Given the description of an element on the screen output the (x, y) to click on. 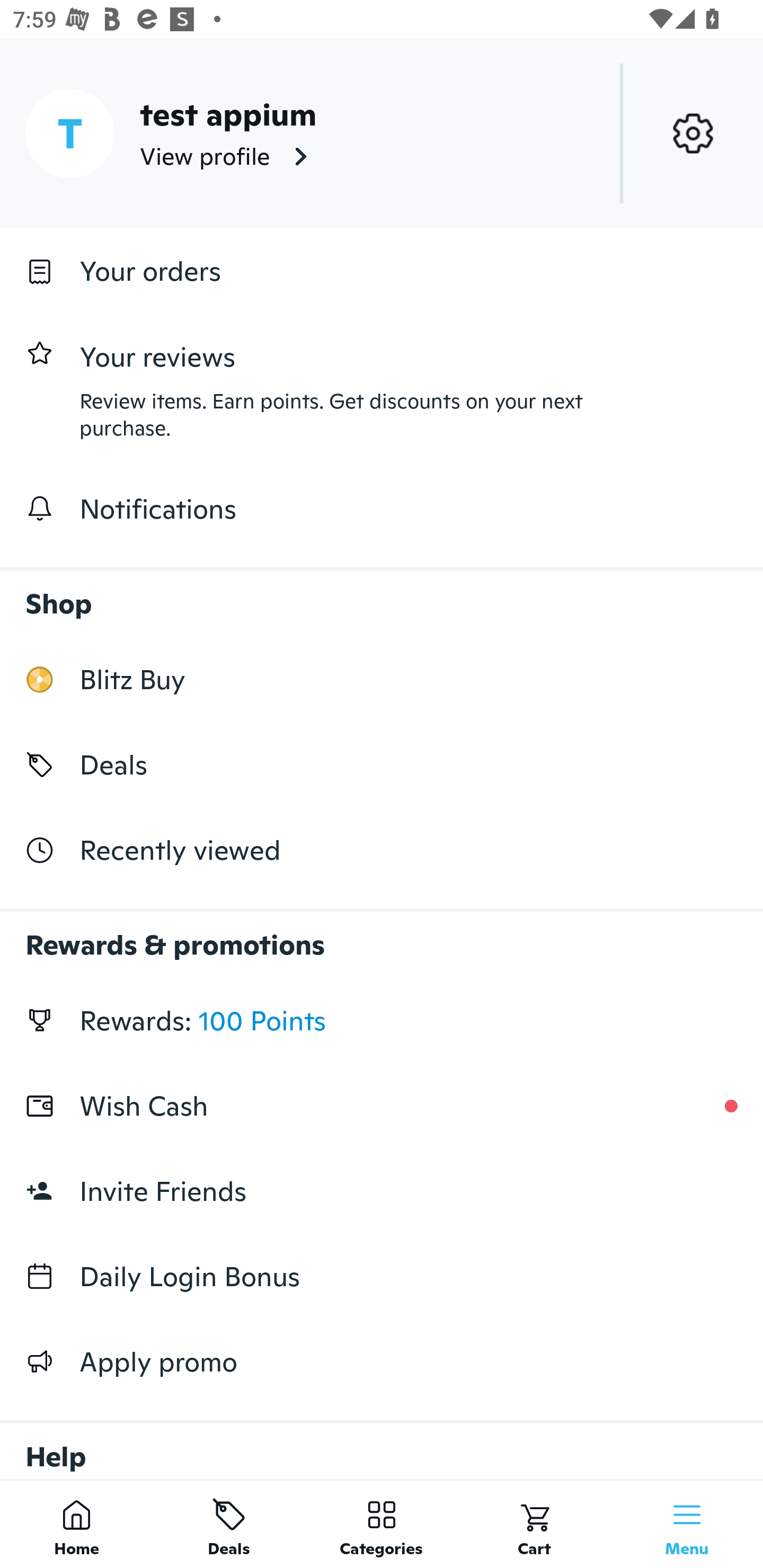
T test appium View profile (381, 132)
Your orders (381, 270)
Notifications (381, 508)
Shop (381, 593)
Blitz Buy (381, 679)
Deals (381, 764)
Recently viewed (381, 850)
Rewards & promotions (381, 935)
Rewards: 100 Points (381, 1020)
Wish Cash (381, 1106)
Invite Friends (381, 1190)
Daily Login Bonus (381, 1277)
Apply promo (381, 1361)
Help (381, 1441)
Home (76, 1523)
Deals (228, 1523)
Categories (381, 1523)
Cart (533, 1523)
Menu (686, 1523)
